Given the description of an element on the screen output the (x, y) to click on. 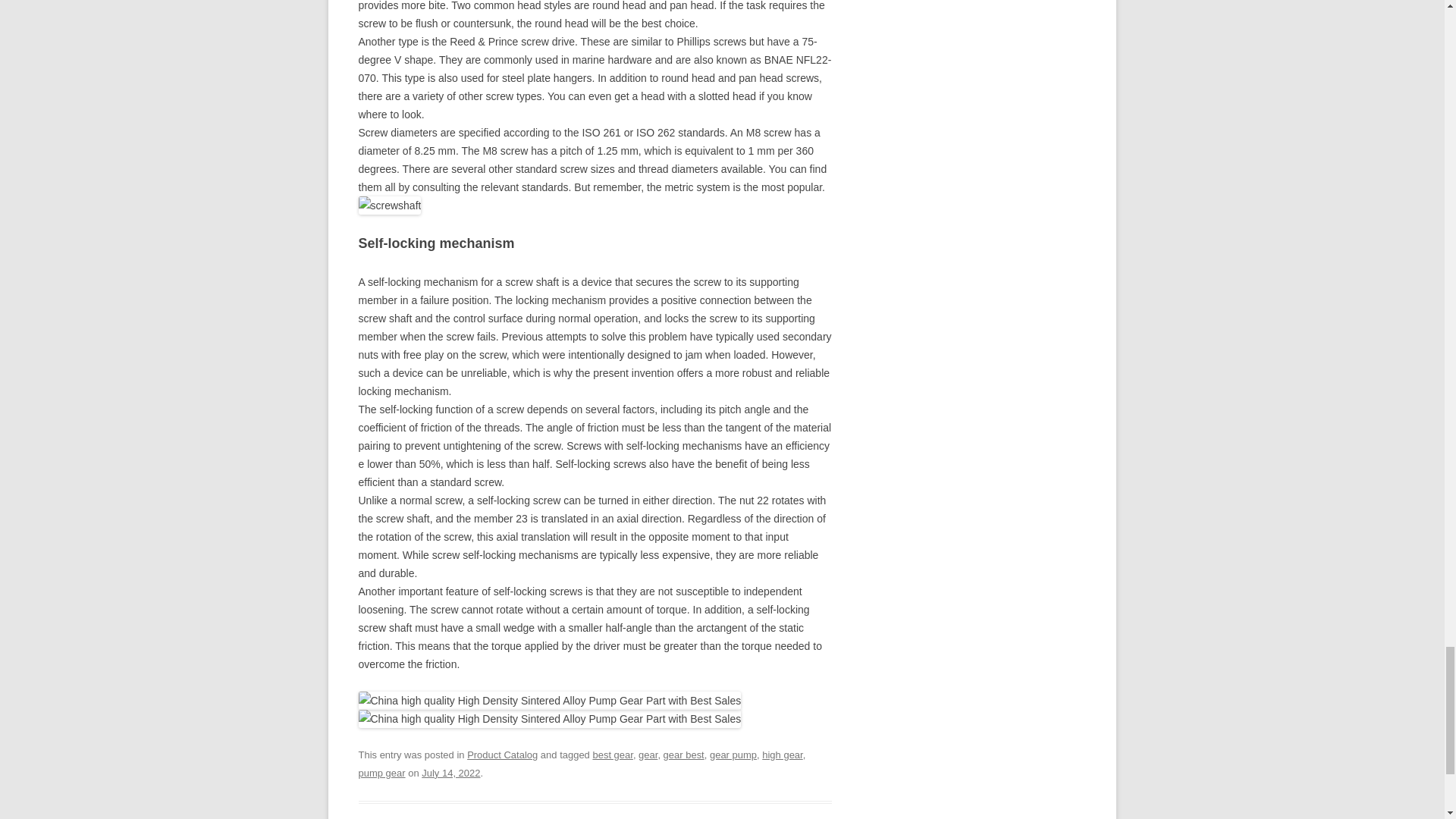
July 14, 2022 (451, 772)
pump gear (381, 772)
high gear (781, 754)
gear best (683, 754)
gear pump (733, 754)
best gear (611, 754)
Product Catalog (502, 754)
gear (648, 754)
9:22 pm (451, 772)
